Given the description of an element on the screen output the (x, y) to click on. 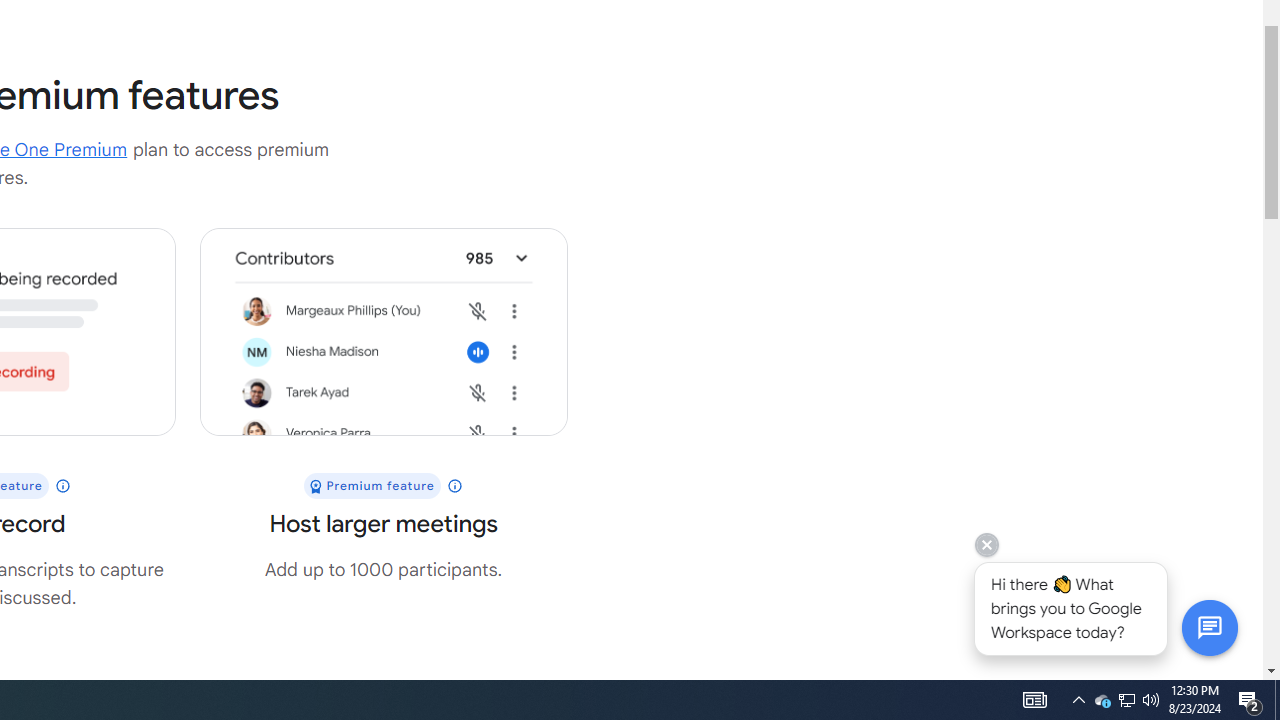
AutomationID: cloud-chatbot-chat-activate-bar-desktop (1209, 627)
Premium feature (383, 486)
UI shows a meeting with 985 participants (383, 332)
